Given the description of an element on the screen output the (x, y) to click on. 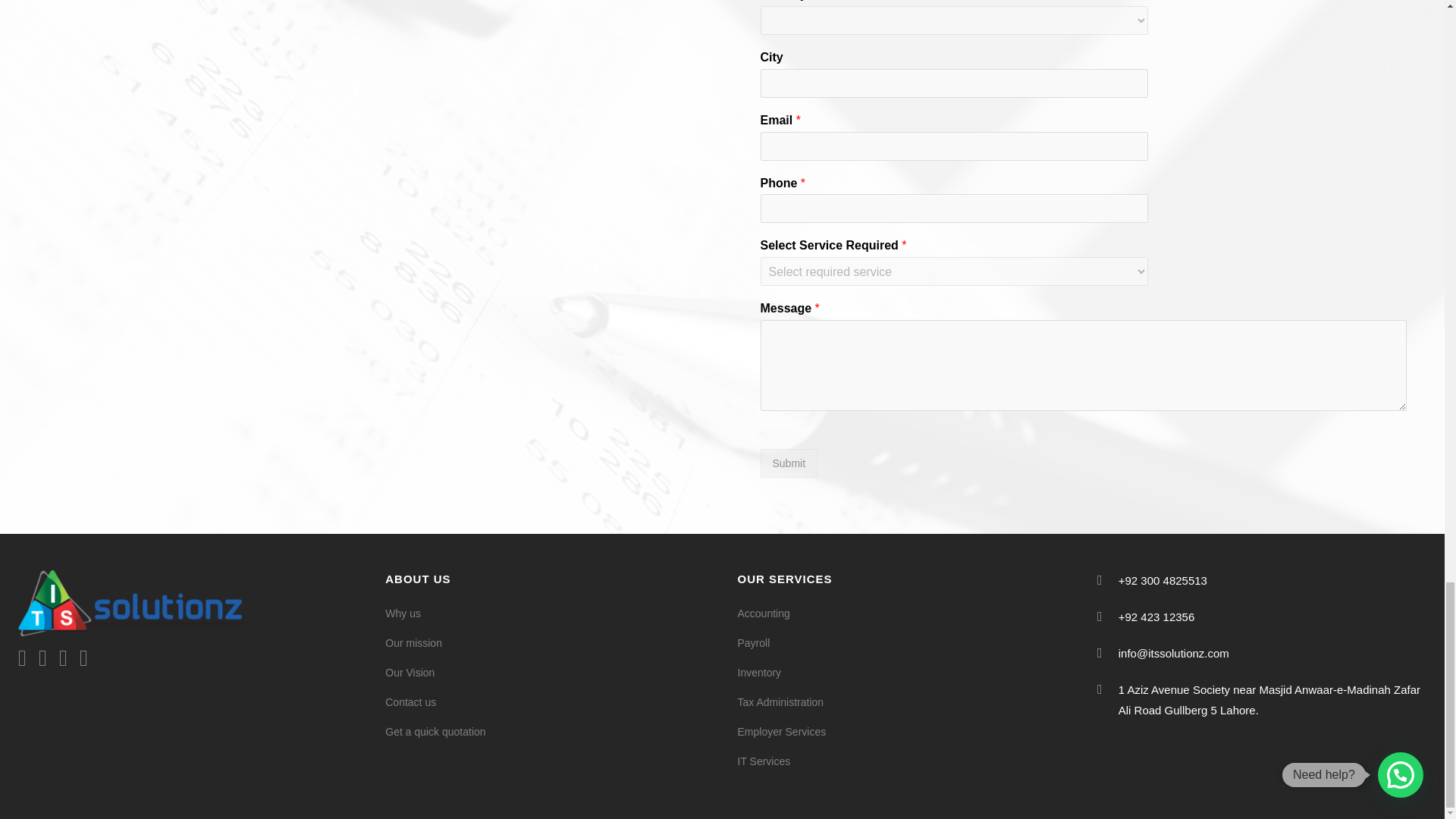
Our mission (549, 642)
Get a quick quotation (549, 731)
Why us (549, 613)
Submit (788, 462)
Contact us (549, 701)
Tax Administration (903, 701)
Accounting (903, 613)
Payroll (903, 642)
Inventory (903, 672)
Our Vision (549, 672)
